Given the description of an element on the screen output the (x, y) to click on. 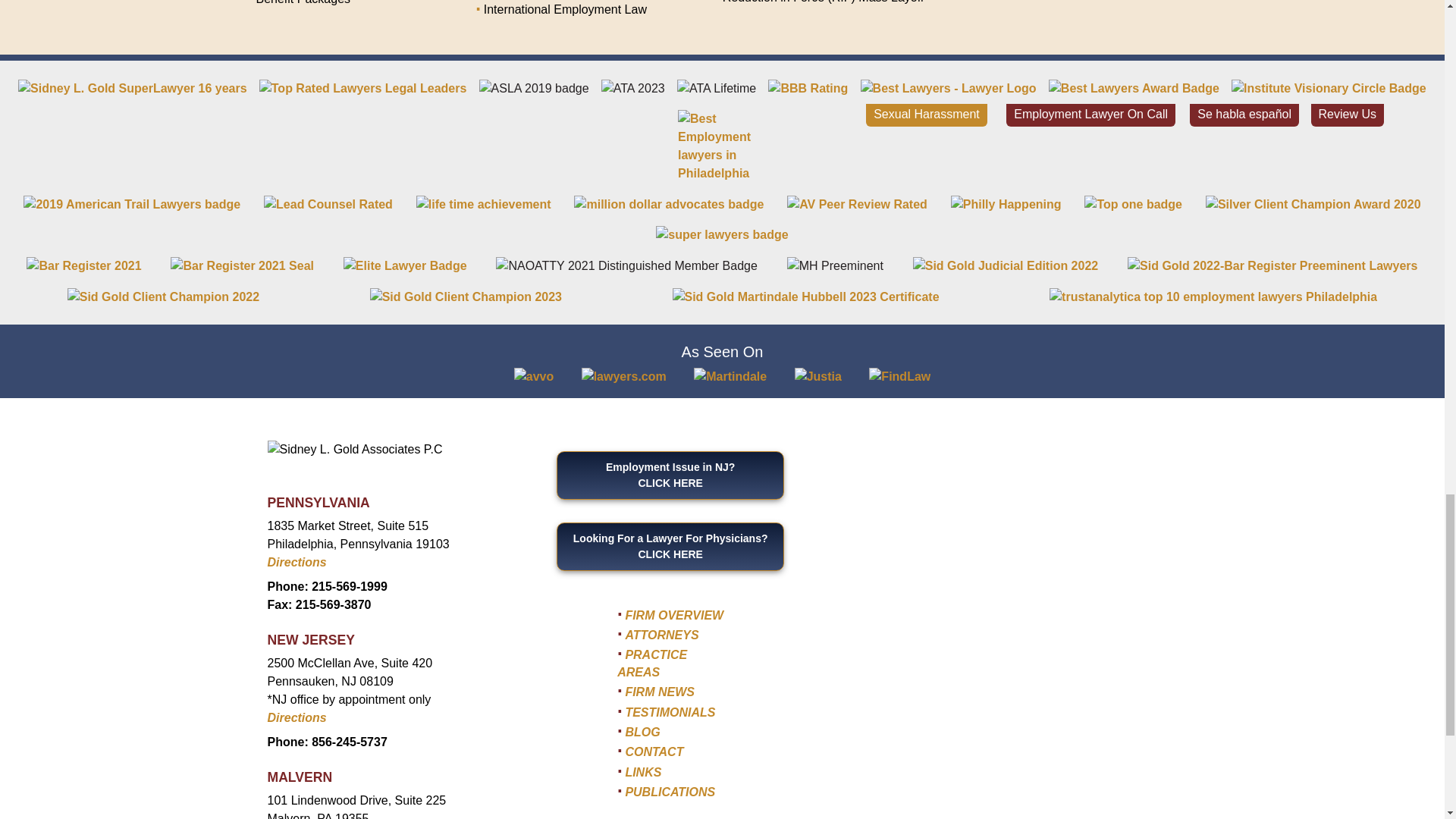
Best Lawyers - Lawyer Logo (948, 88)
View Profile (405, 264)
trustanalytica (1213, 295)
